Given the description of an element on the screen output the (x, y) to click on. 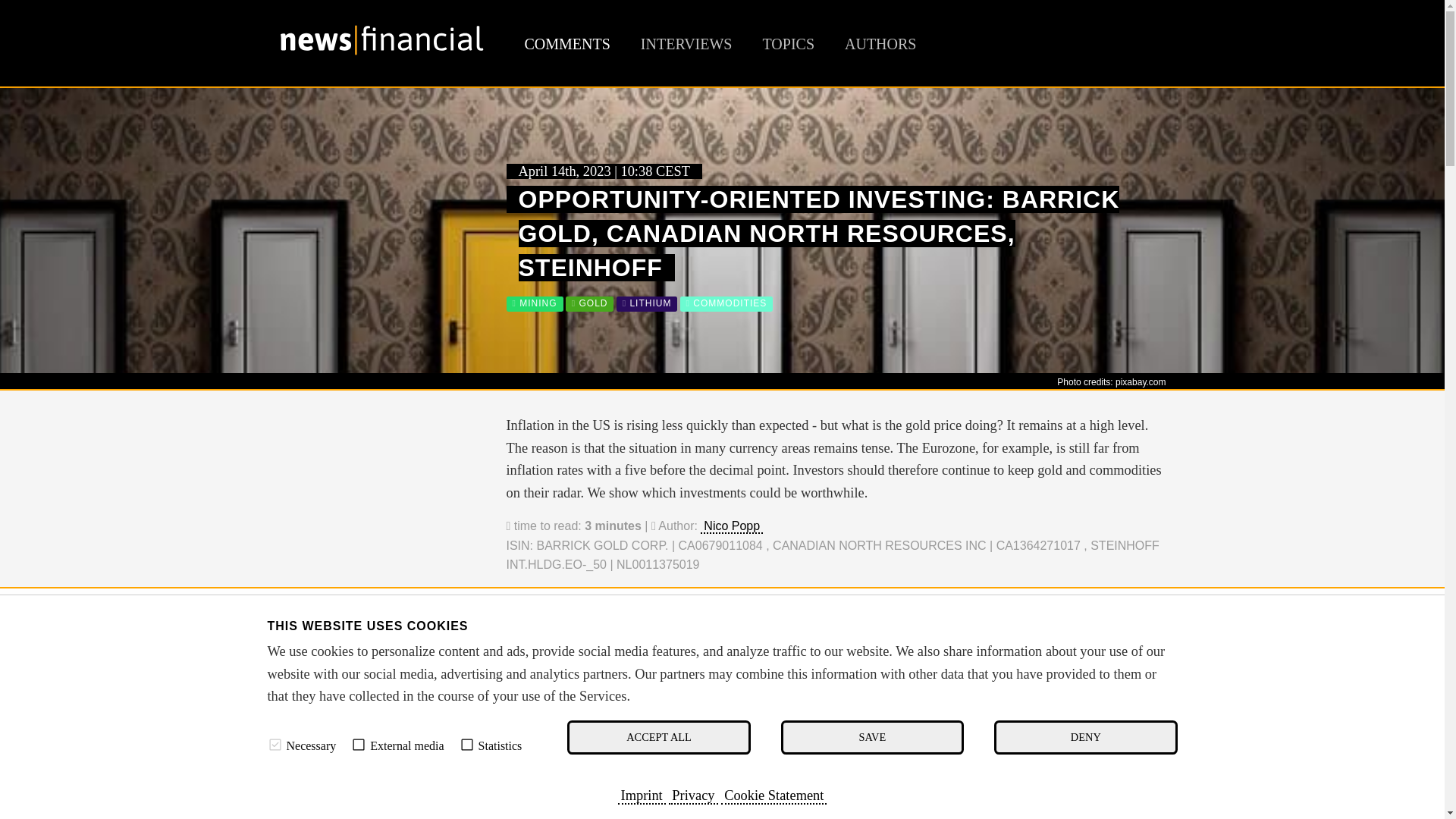
CANADIAN NORTH RESOURCES: THE SOLID AMONG THE SPECULATORS (772, 682)
INTERVIEWS (686, 44)
Nico Popp (731, 526)
DENY (1085, 737)
COMMENTS (566, 44)
ACCEPT ALL (658, 737)
Privacy (692, 795)
STEINHOFF: WE HAVE ALWAYS WRITTEN IT (677, 702)
SAVE (871, 737)
Gary Cope, President and CEO, Barsele Minerals (380, 800)
